Given the description of an element on the screen output the (x, y) to click on. 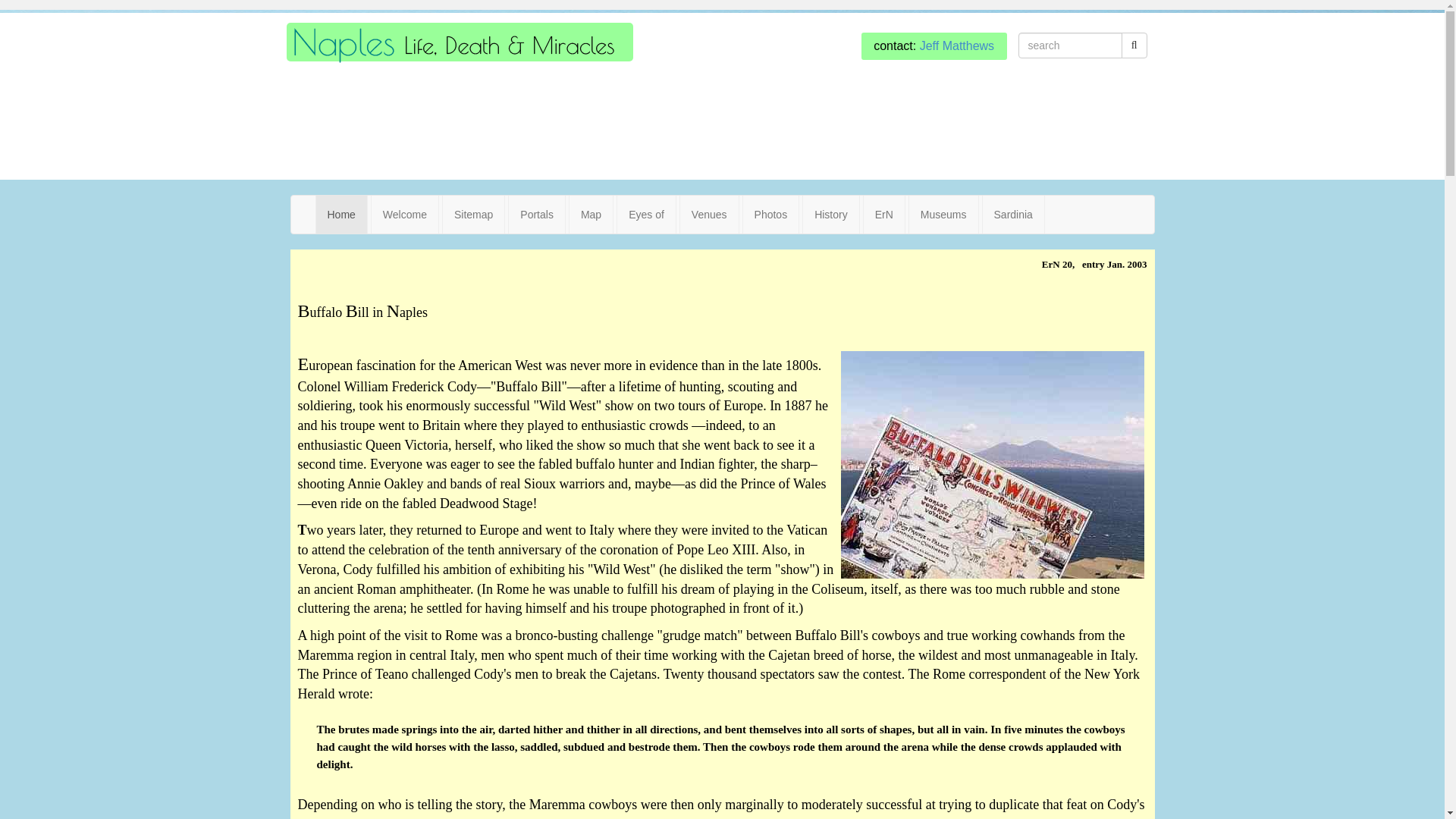
Welcome (404, 214)
Home (340, 214)
Sardinia (1012, 214)
Museums (943, 214)
Venues (708, 214)
History (831, 214)
Photos (770, 214)
Map (590, 214)
ErN (883, 214)
Portals (536, 214)
Sitemap (472, 214)
Jeff Matthews (957, 45)
Eyes of (646, 214)
